Given the description of an element on the screen output the (x, y) to click on. 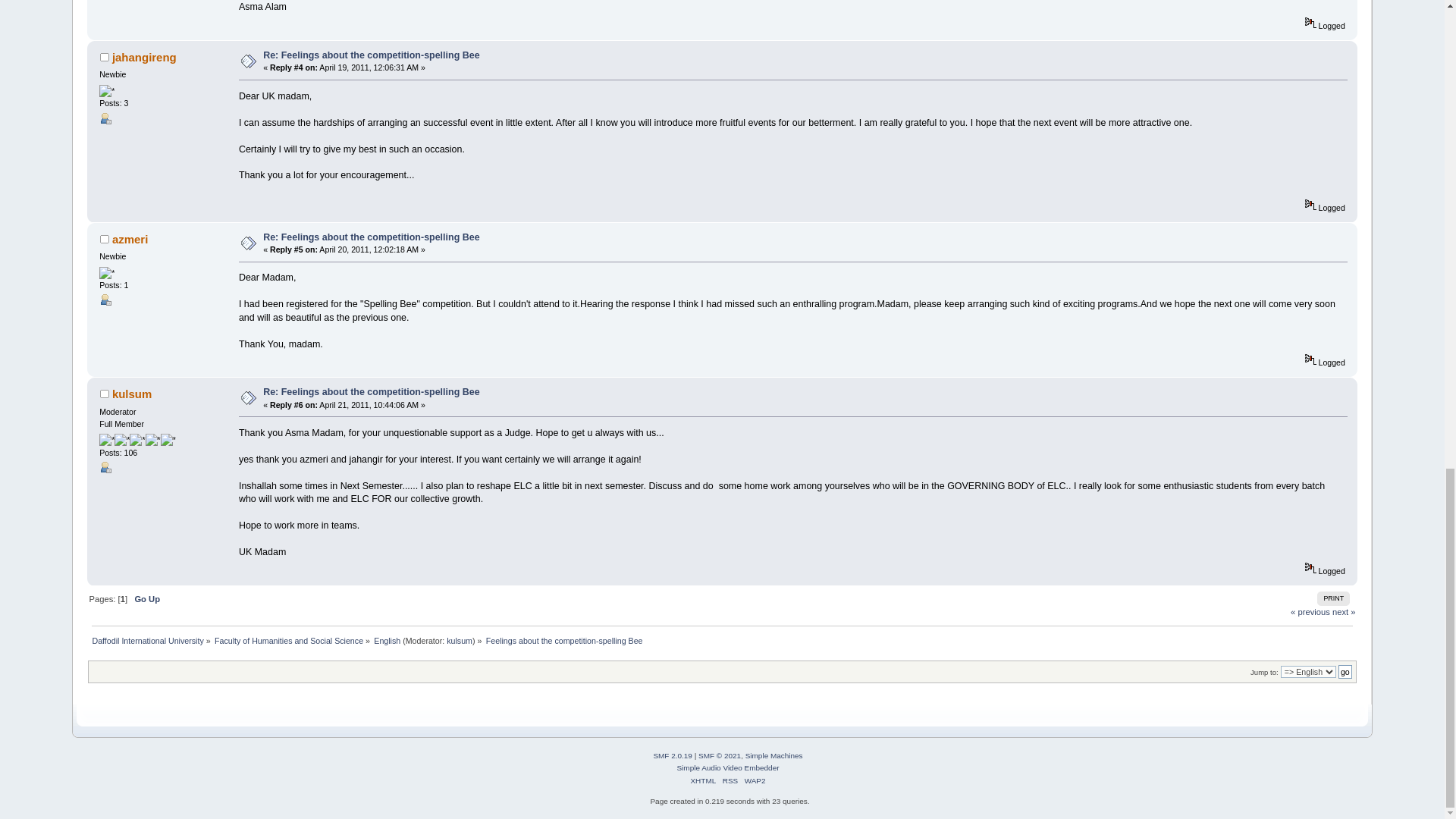
View Profile (105, 467)
View the profile of kulsum (131, 393)
go (1345, 671)
View Profile (105, 118)
Simple Machines Forum (672, 755)
Board Moderator (458, 640)
View the profile of azmeri (130, 238)
View Profile (105, 299)
View the profile of jahangireng (144, 56)
